Given the description of an element on the screen output the (x, y) to click on. 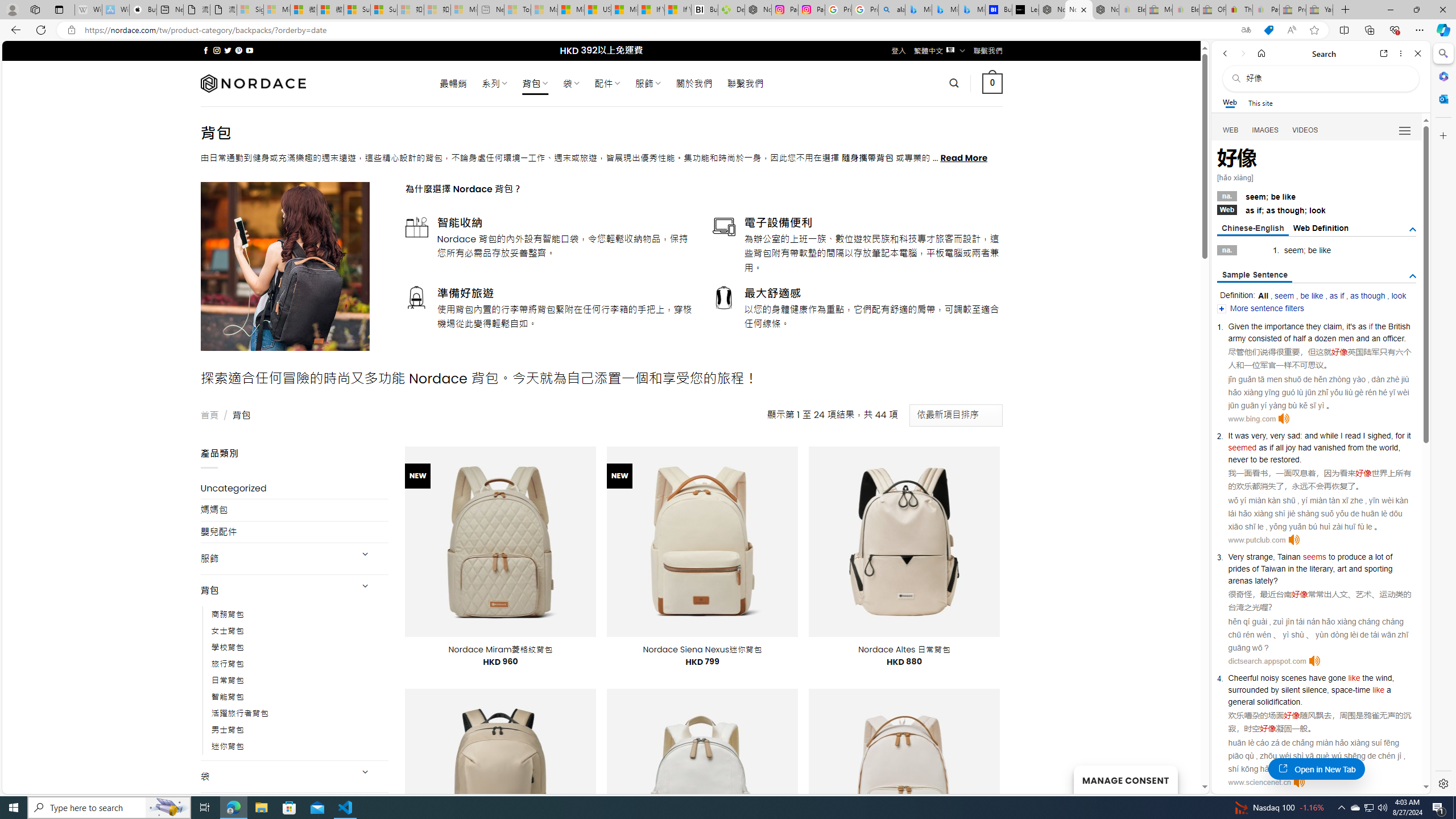
solidification (1278, 700)
Payments Terms of Use | eBay.com - Sleeping (1265, 9)
na.seem; be like (1316, 195)
silent silence (1304, 689)
space-time (1350, 689)
. (1301, 700)
